Given the description of an element on the screen output the (x, y) to click on. 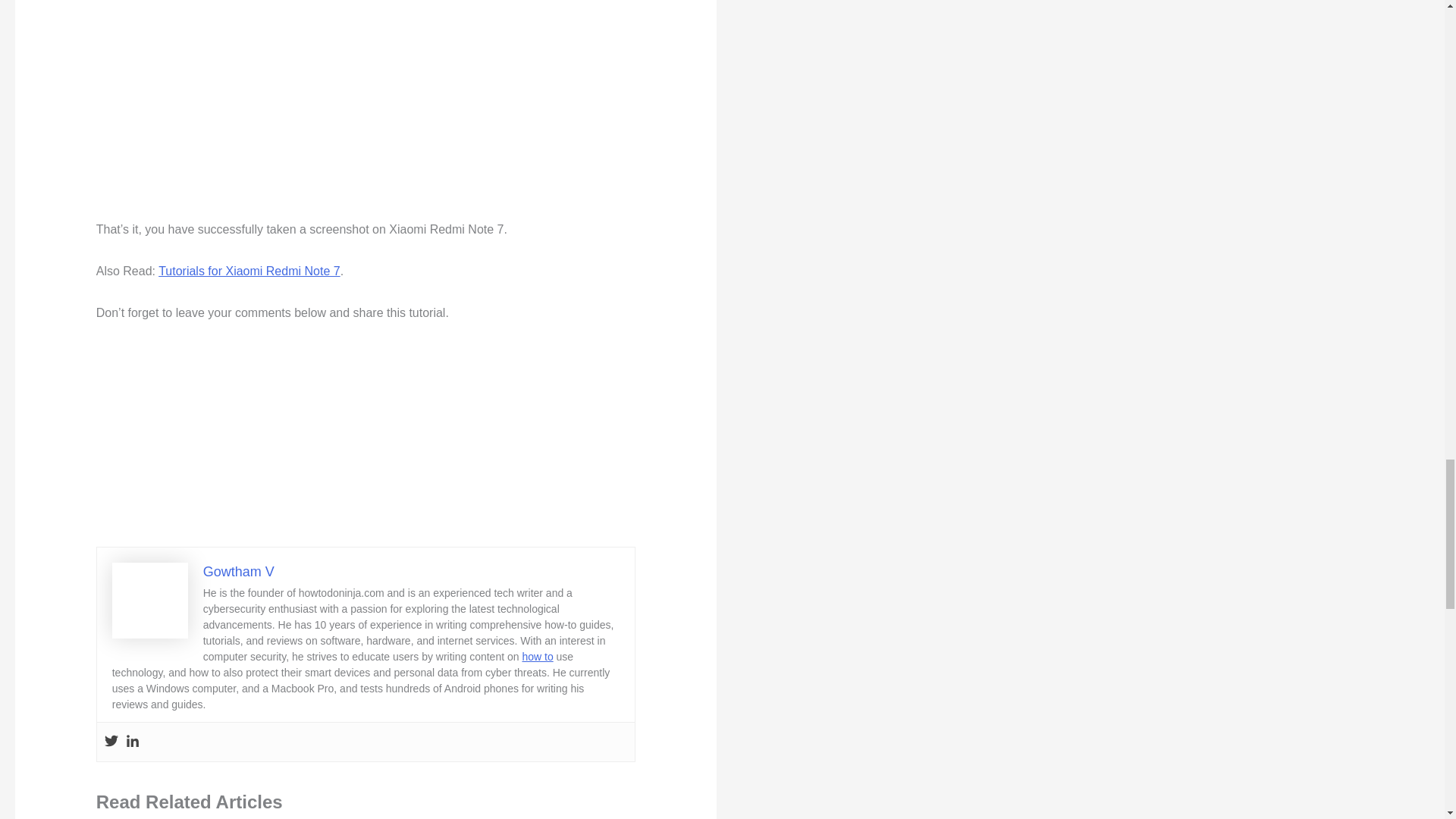
Gowtham V (239, 571)
Tutorials for Xiaomi Redmi Note 7 (249, 270)
how to (537, 656)
How To Tutorials (537, 656)
